Given the description of an element on the screen output the (x, y) to click on. 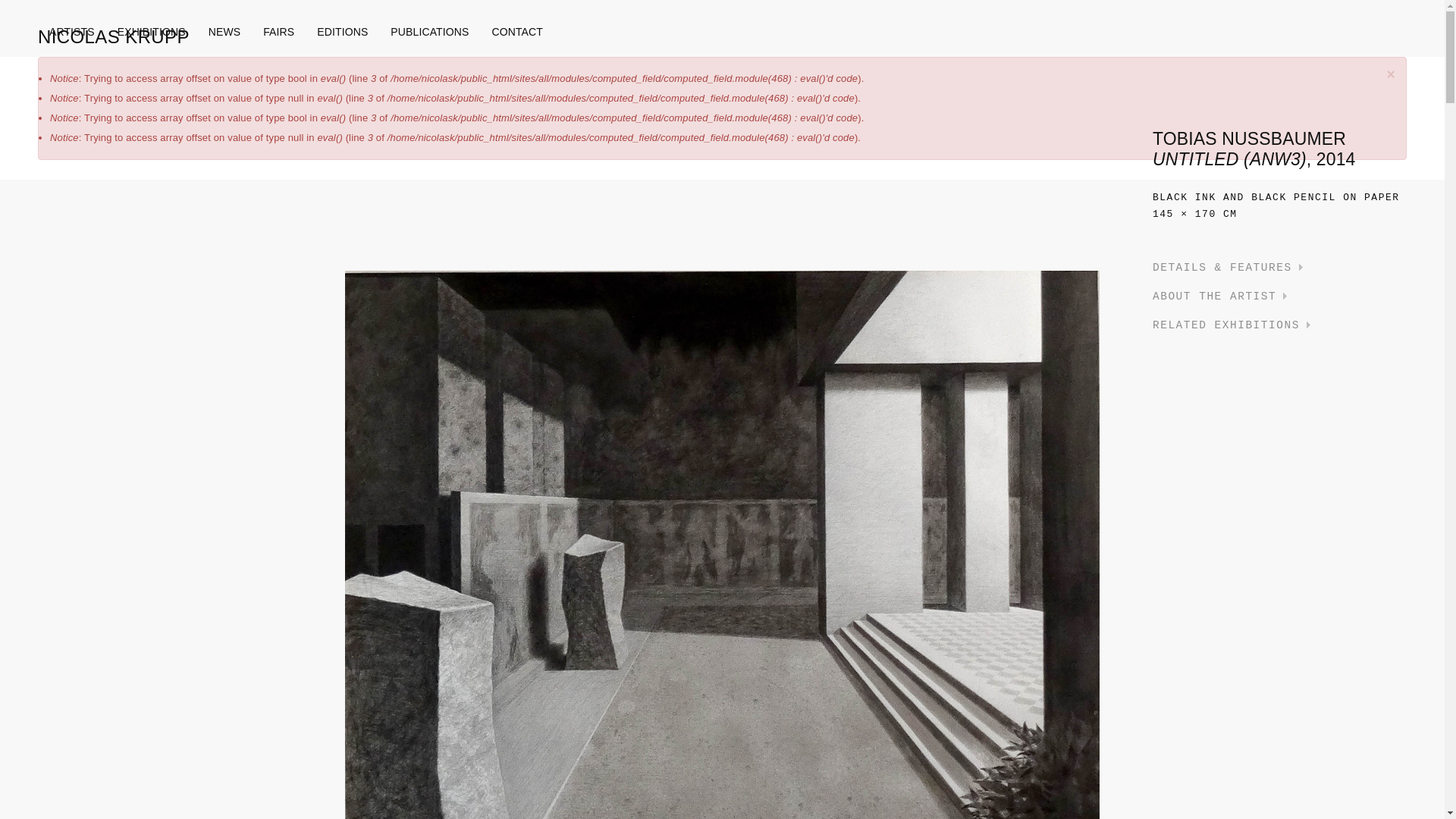
PUBLICATIONS (429, 31)
RELATED EXHIBITIONS (1232, 325)
FAIRS (278, 31)
NICOLAS KRUPP (118, 36)
NEWS (223, 31)
CONTACT (510, 31)
ARTISTS (71, 31)
EXHIBITIONS (151, 31)
EDITIONS (341, 31)
